Given the description of an element on the screen output the (x, y) to click on. 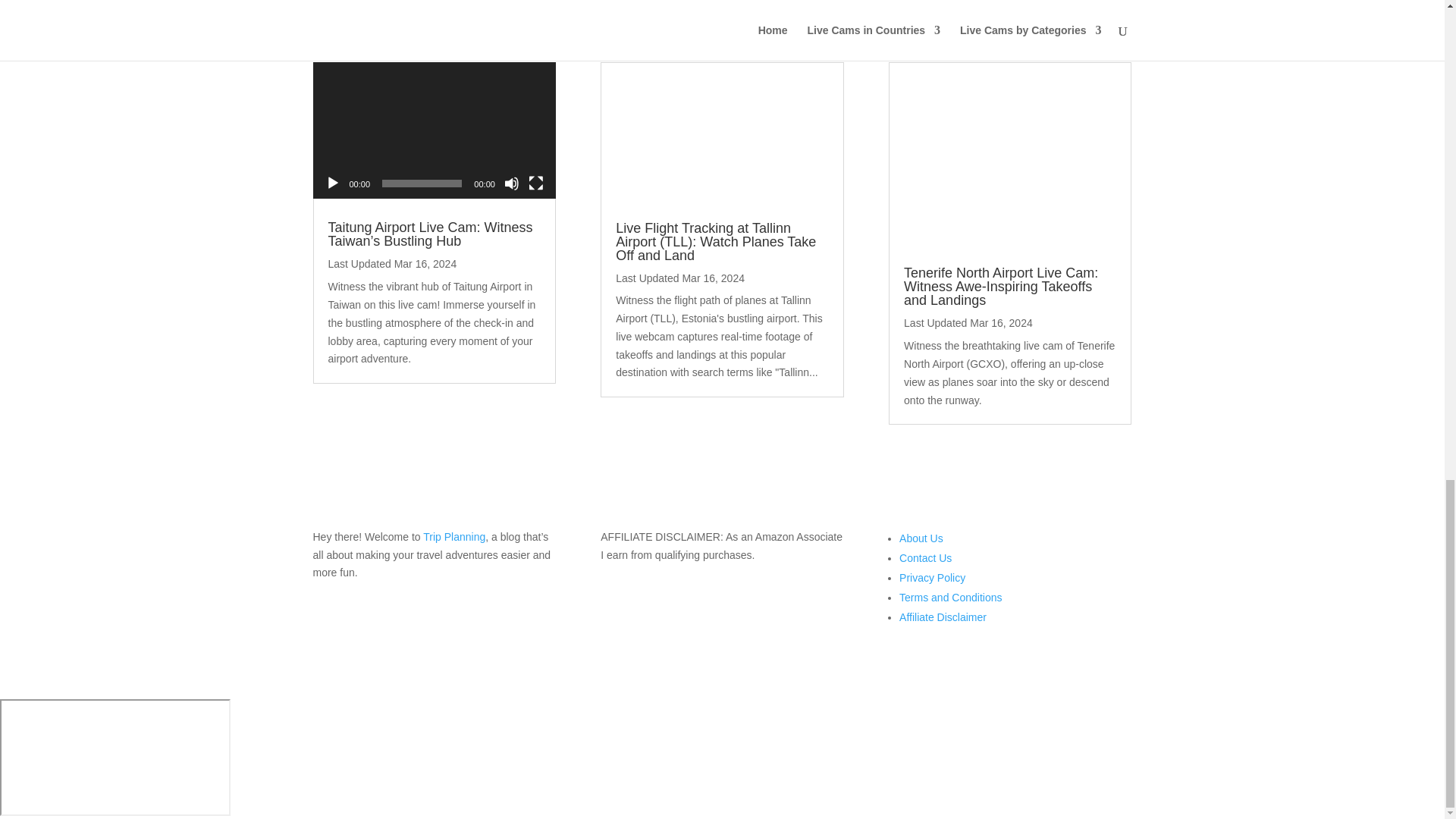
Play (331, 183)
Fullscreen (535, 183)
Mute (511, 183)
